Given the description of an element on the screen output the (x, y) to click on. 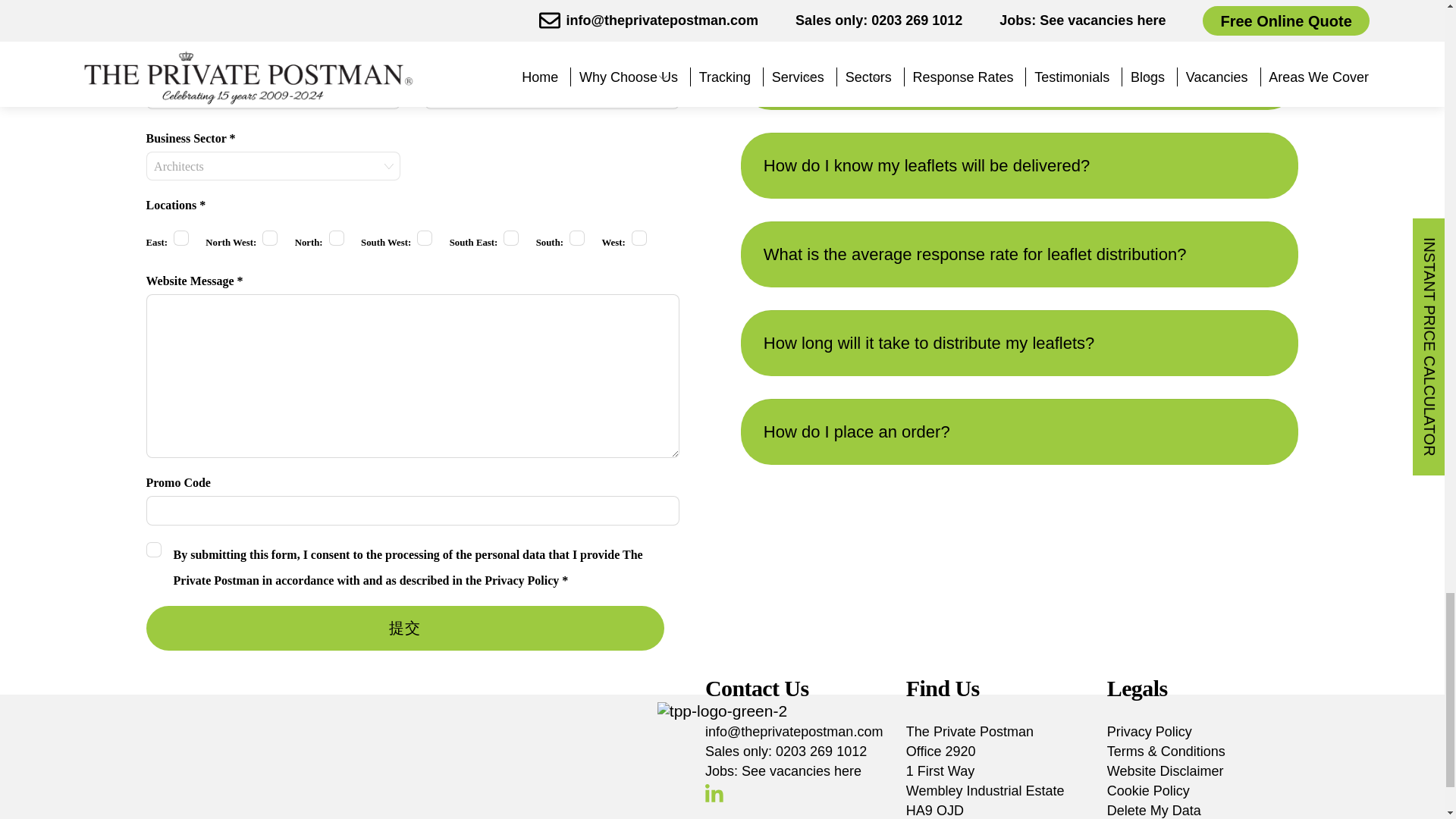
1 (336, 237)
Business Sector (272, 165)
1 (510, 237)
1 (181, 237)
1 (152, 549)
1 (424, 237)
1 (638, 237)
1 (577, 237)
1 (270, 237)
tpp-logo-green-2 (722, 710)
